Given the description of an element on the screen output the (x, y) to click on. 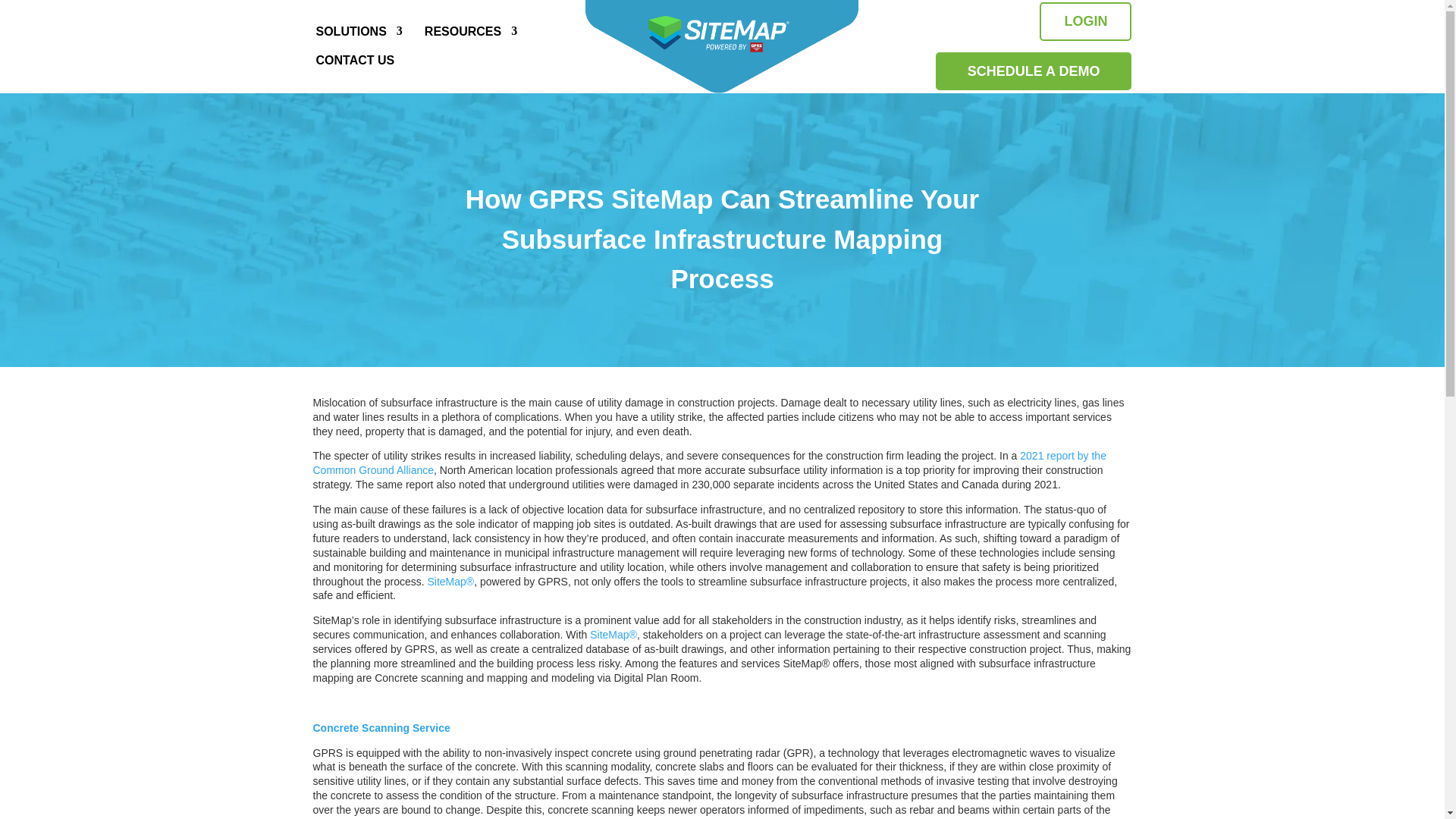
2021 report by the Common Ground Alliance (709, 462)
CONTACT US (358, 60)
RESOURCES (466, 31)
SOLUTIONS (355, 31)
SCHEDULE A DEMO (1034, 71)
logo-new (722, 46)
LOGIN (1085, 21)
Concrete Scanning Service (381, 727)
